Given the description of an element on the screen output the (x, y) to click on. 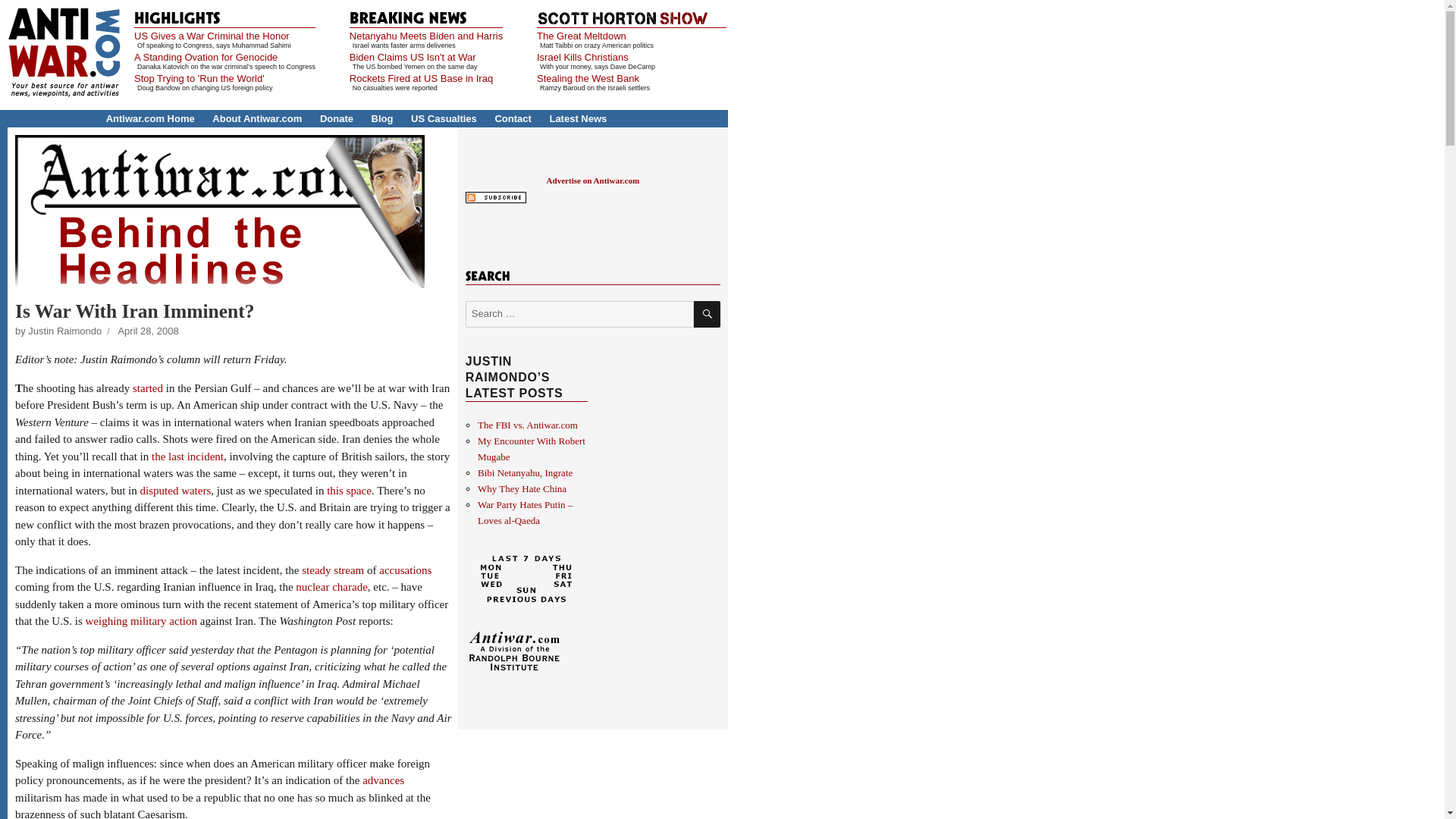
April 28, 2008 (147, 330)
The Great Meltdown (581, 35)
started (147, 387)
Stealing the West Bank (588, 78)
nuclear charade (331, 586)
Behind the Headlines (219, 211)
Latest News (577, 118)
the last incident (187, 456)
US Casualties (443, 118)
Justin Raimondo (64, 330)
Donate (336, 118)
Netanyahu Meets Biden and Harris (425, 35)
Contact (513, 118)
Israel Kills Christians (582, 57)
this space (348, 490)
